Given the description of an element on the screen output the (x, y) to click on. 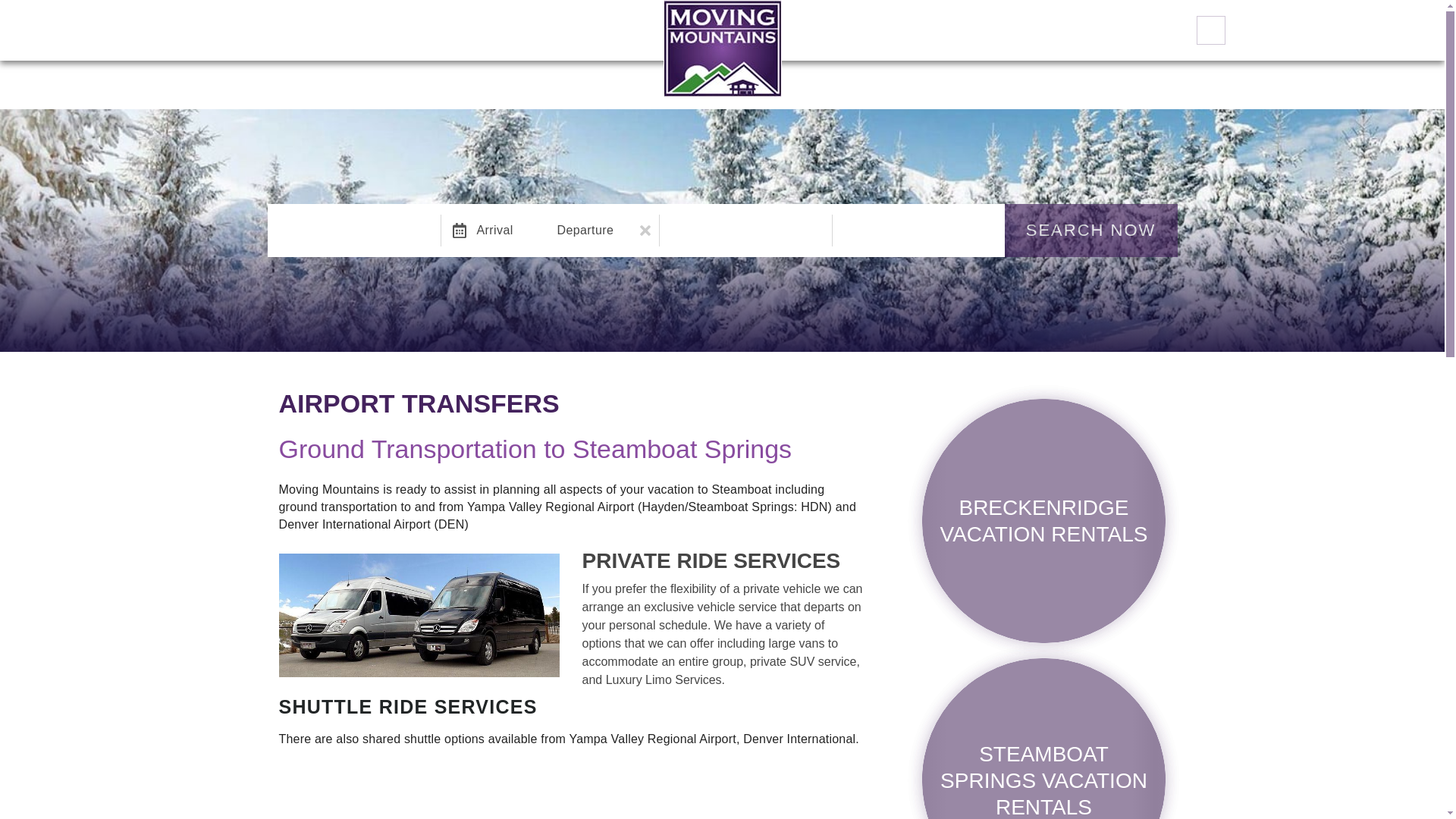
Favorites (1210, 30)
Clear QS Datepicker (644, 230)
MENU (26, 30)
